Given the description of an element on the screen output the (x, y) to click on. 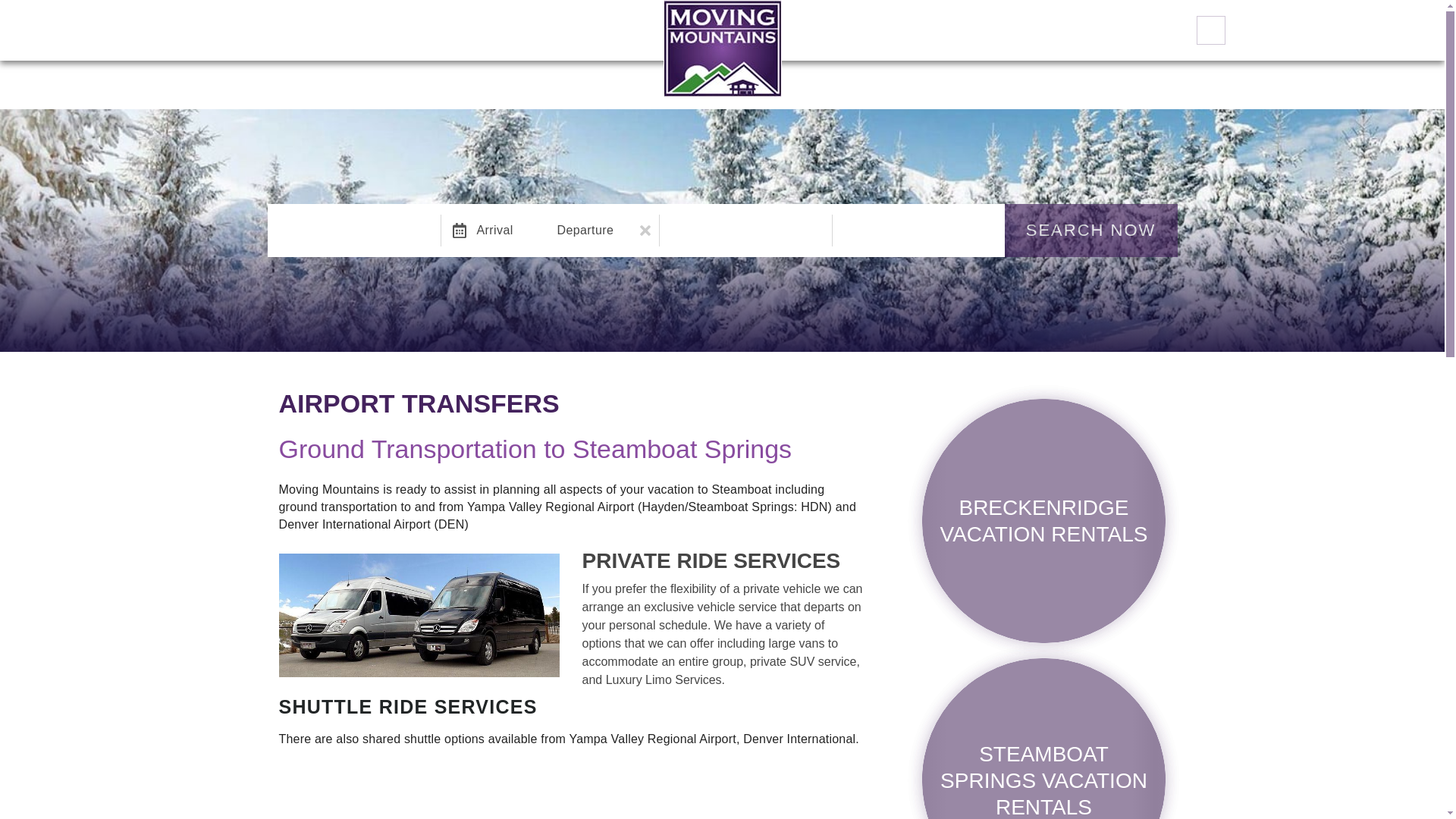
Favorites (1210, 30)
Clear QS Datepicker (644, 230)
MENU (26, 30)
